Given the description of an element on the screen output the (x, y) to click on. 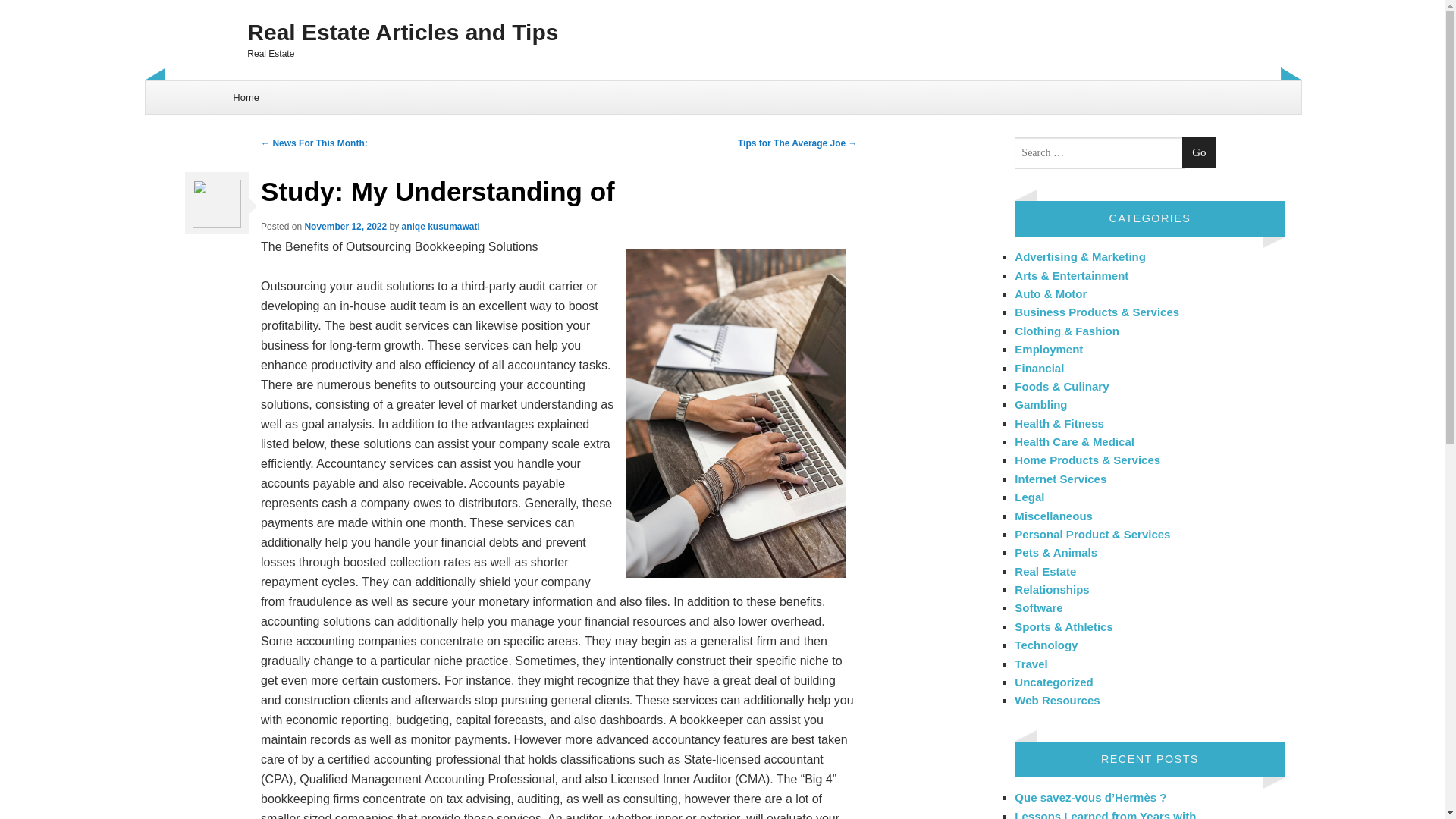
Uncategorized (1053, 681)
Skip to content (183, 89)
Go (1198, 152)
Employment (1048, 349)
aniqe kusumawati (440, 226)
Real Estate (1044, 571)
Legal (1028, 496)
View all posts by aniqe kusumawati (440, 226)
Travel (1030, 662)
Internet Services (1060, 478)
Relationships (1051, 589)
Home (246, 97)
12:20 pm (345, 226)
November 12, 2022 (345, 226)
Financial (1039, 367)
